Given the description of an element on the screen output the (x, y) to click on. 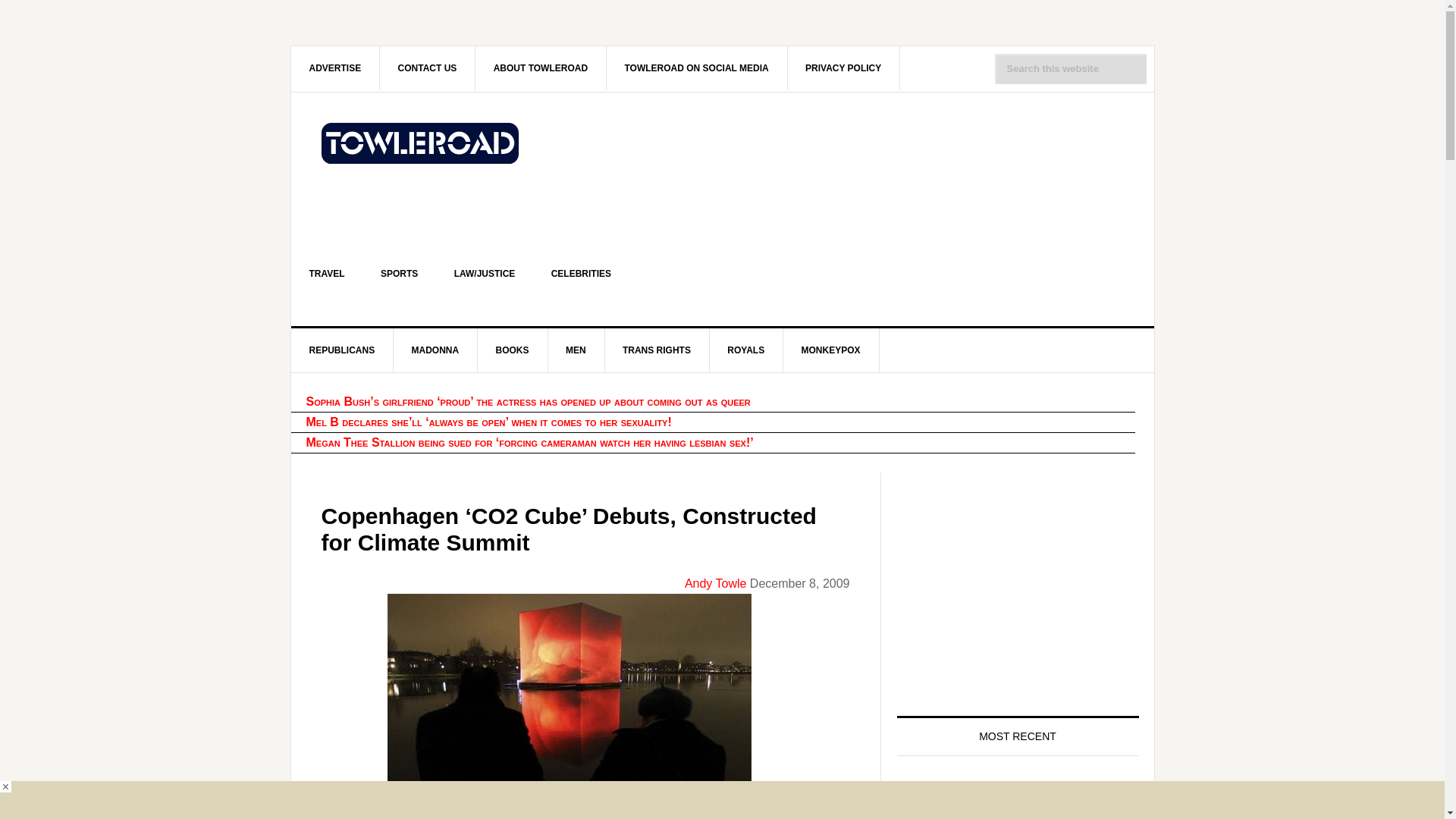
REPUBLICANS (342, 349)
MADONNA (436, 349)
TOWLEROAD GAY NEWS (419, 156)
TRAVEL (326, 273)
close (5, 786)
MEN (576, 349)
CELEBRITIES (580, 273)
SPORTS (398, 273)
ABOUT TOWLEROAD (541, 67)
PRIVACY POLICY (843, 67)
TRANS RIGHTS (657, 349)
BOOKS (512, 349)
CONTACT US (428, 67)
ROYALS (746, 349)
